Given the description of an element on the screen output the (x, y) to click on. 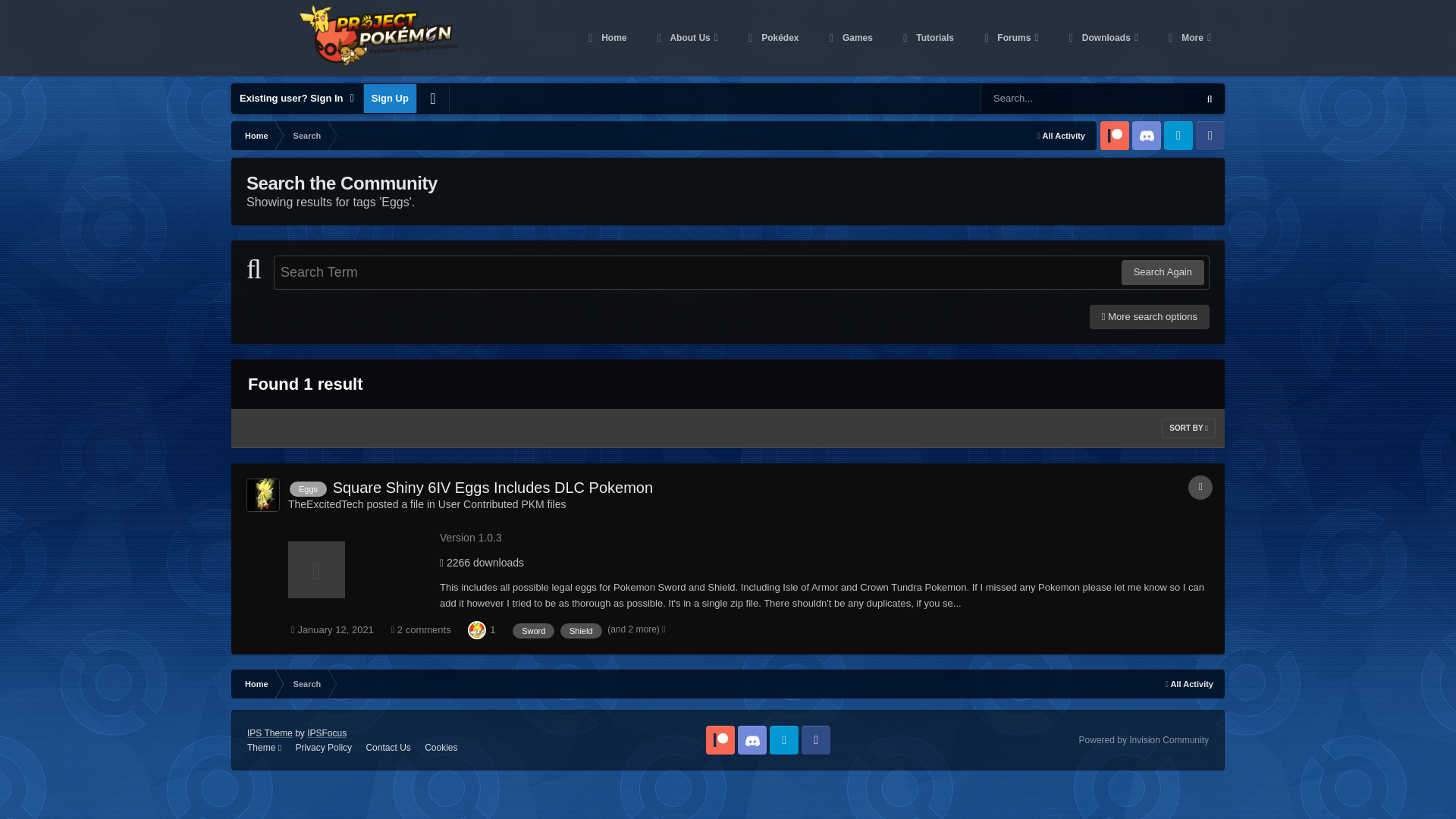
Find other content tagged with 'Eggs' (307, 488)
Games (849, 37)
About Us (686, 37)
Home (606, 37)
Downloads (1101, 37)
Go to TheExcitedTech's profile (262, 494)
Home (255, 135)
Find other content tagged with 'Shield' (581, 630)
Invision Community (1143, 739)
Go to TheExcitedTech's profile (326, 503)
Home (255, 683)
Existing user? Sign In   (296, 98)
Customizer (432, 98)
Find other content tagged with 'Sword' (533, 630)
Amazed (476, 629)
